Given the description of an element on the screen output the (x, y) to click on. 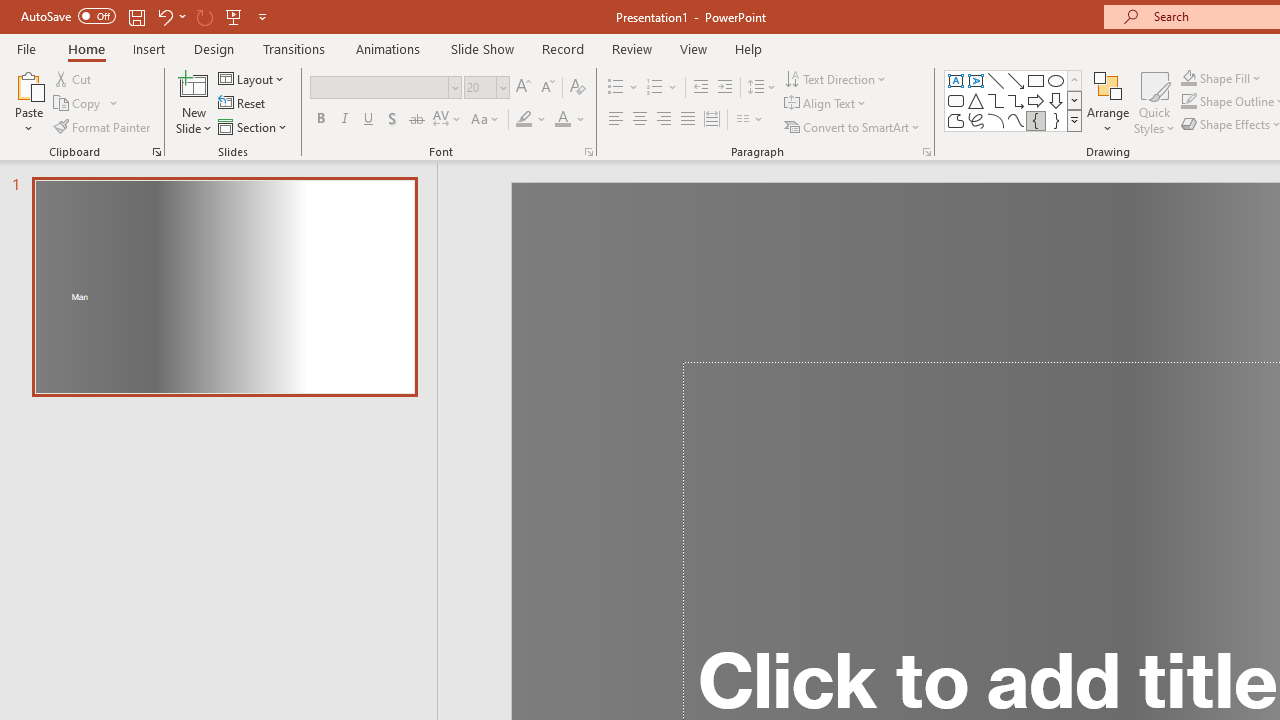
Office Clipboard... (156, 151)
Strikethrough (416, 119)
Arc (995, 120)
Shape Fill (1221, 78)
Align Text (826, 103)
Text Highlight Color Yellow (524, 119)
Freeform: Scribble (975, 120)
Arrow: Down (1055, 100)
Font... (588, 151)
Font Color (569, 119)
Quick Styles (1154, 102)
